Given the description of an element on the screen output the (x, y) to click on. 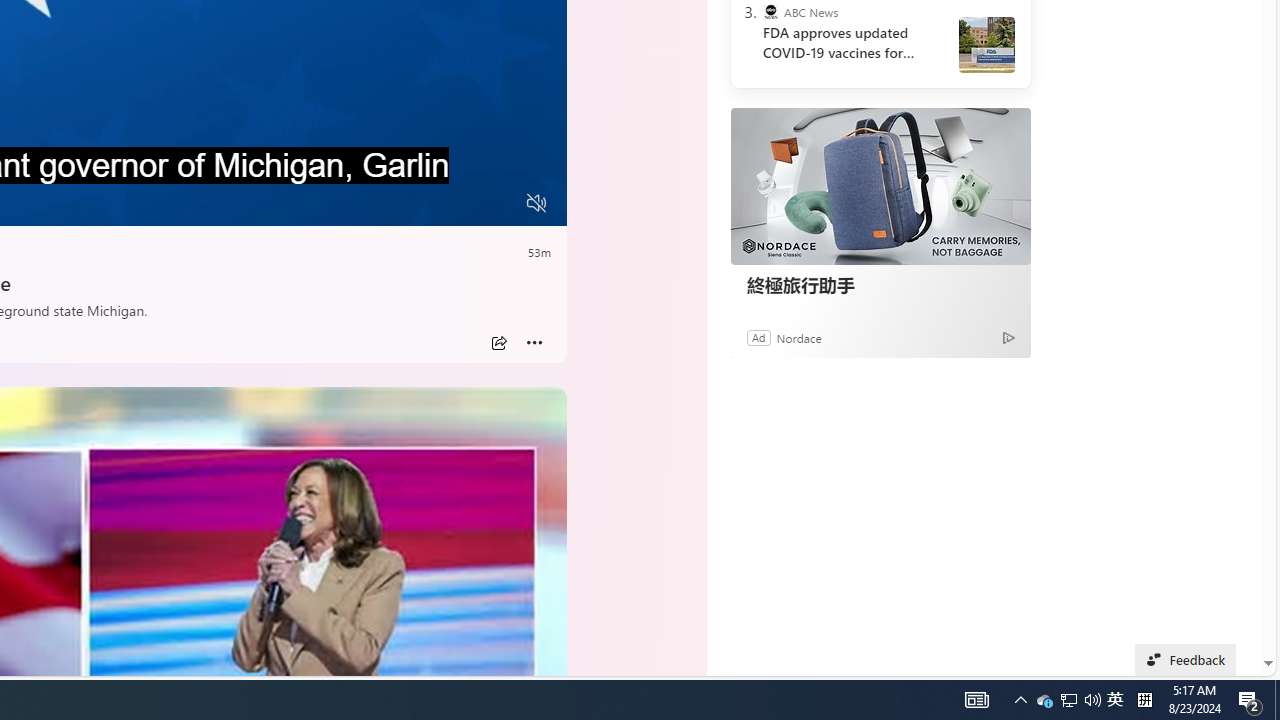
Unmute (535, 203)
